Given the description of an element on the screen output the (x, y) to click on. 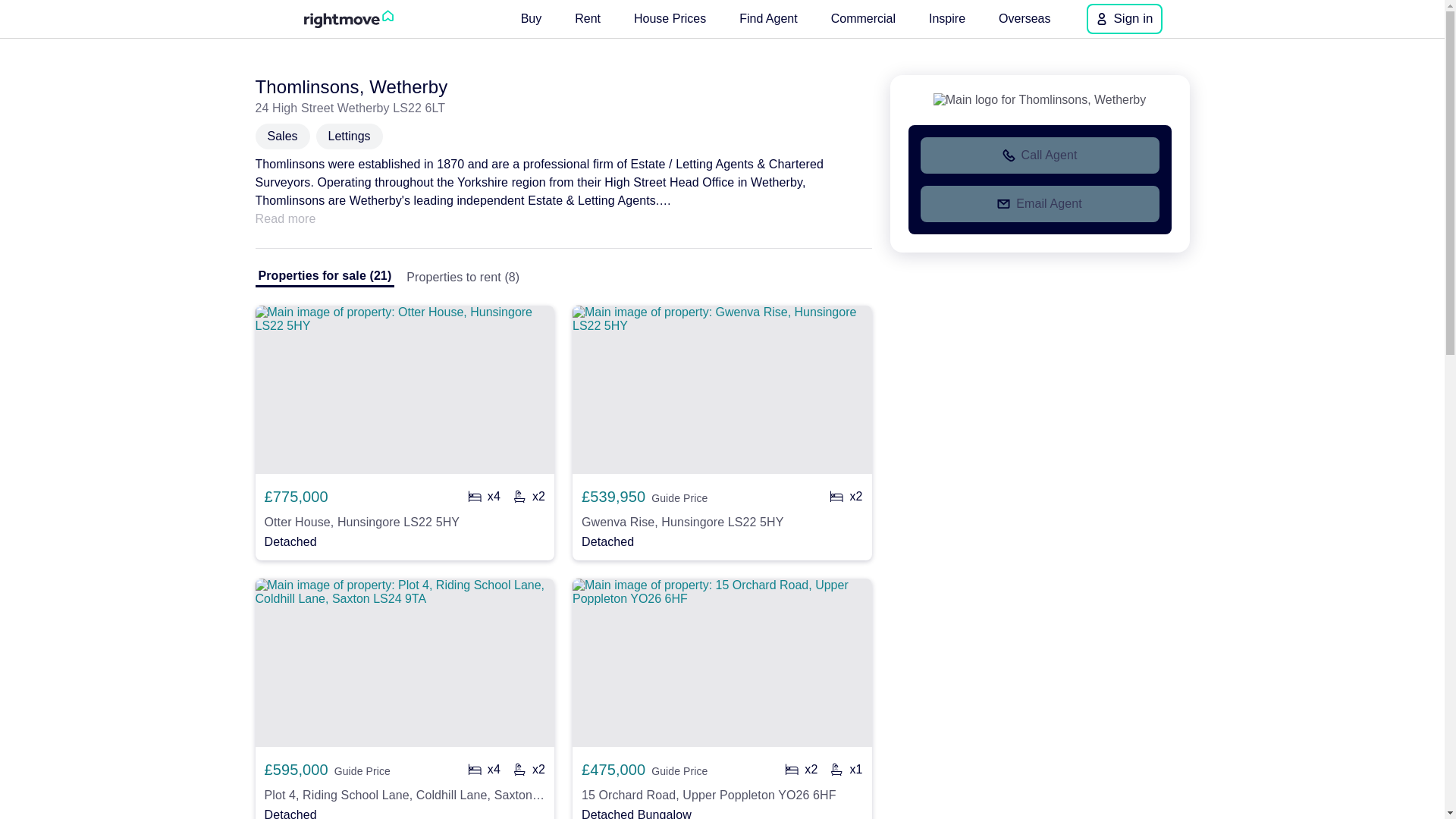
Find Agent (768, 18)
Overseas (1024, 18)
House Prices (669, 18)
Buy (531, 18)
Rent (588, 18)
Commercial (863, 18)
Inspire (947, 18)
